Given the description of an element on the screen output the (x, y) to click on. 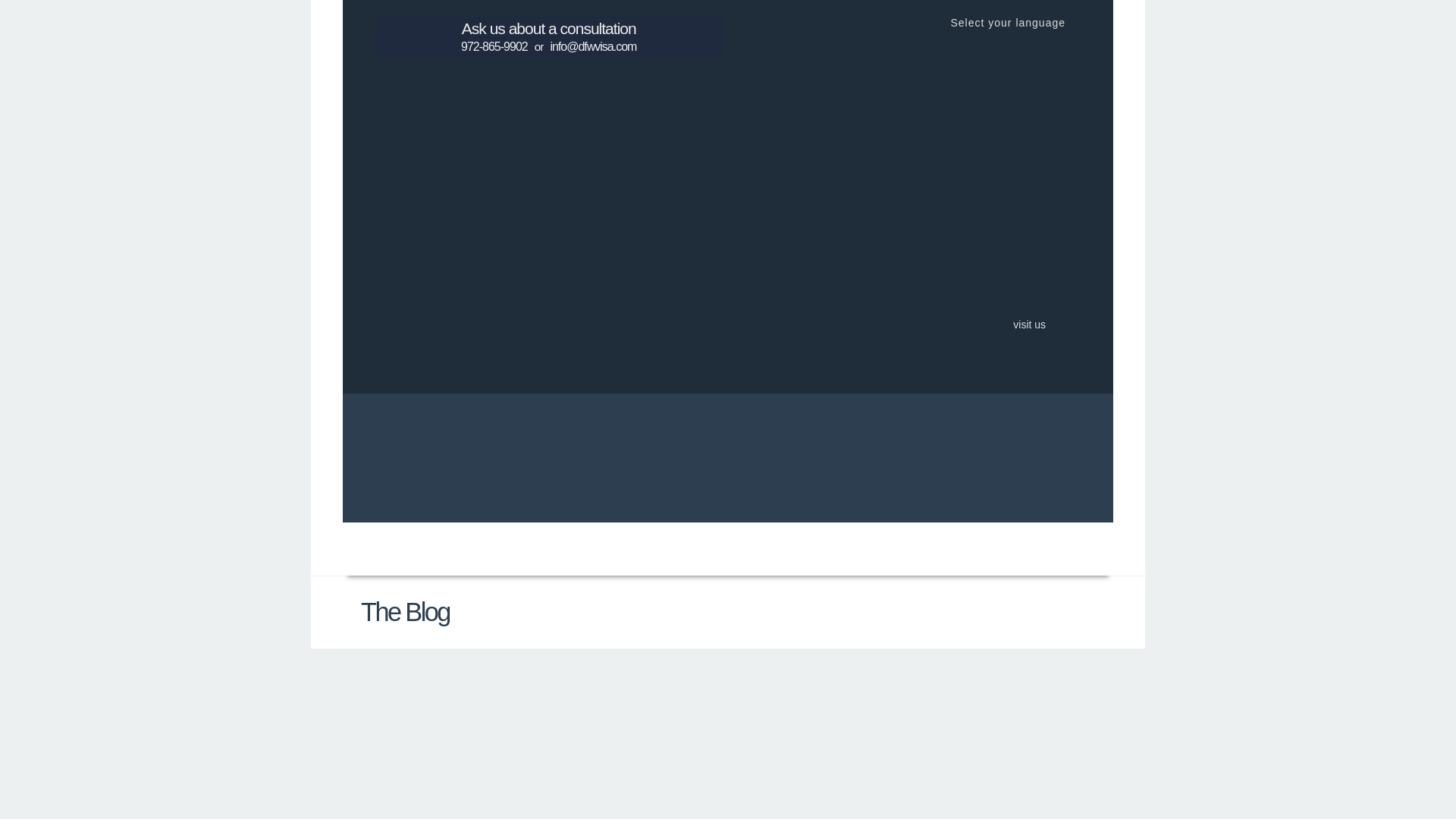
972-865-9902 (494, 46)
Contact Us (980, 546)
Home (472, 546)
Pay Bill (907, 546)
Who We Are (541, 546)
Immigration Resolutions (727, 465)
English (951, 201)
Spanish (951, 87)
Our Immigration Services (665, 546)
